Given the description of an element on the screen output the (x, y) to click on. 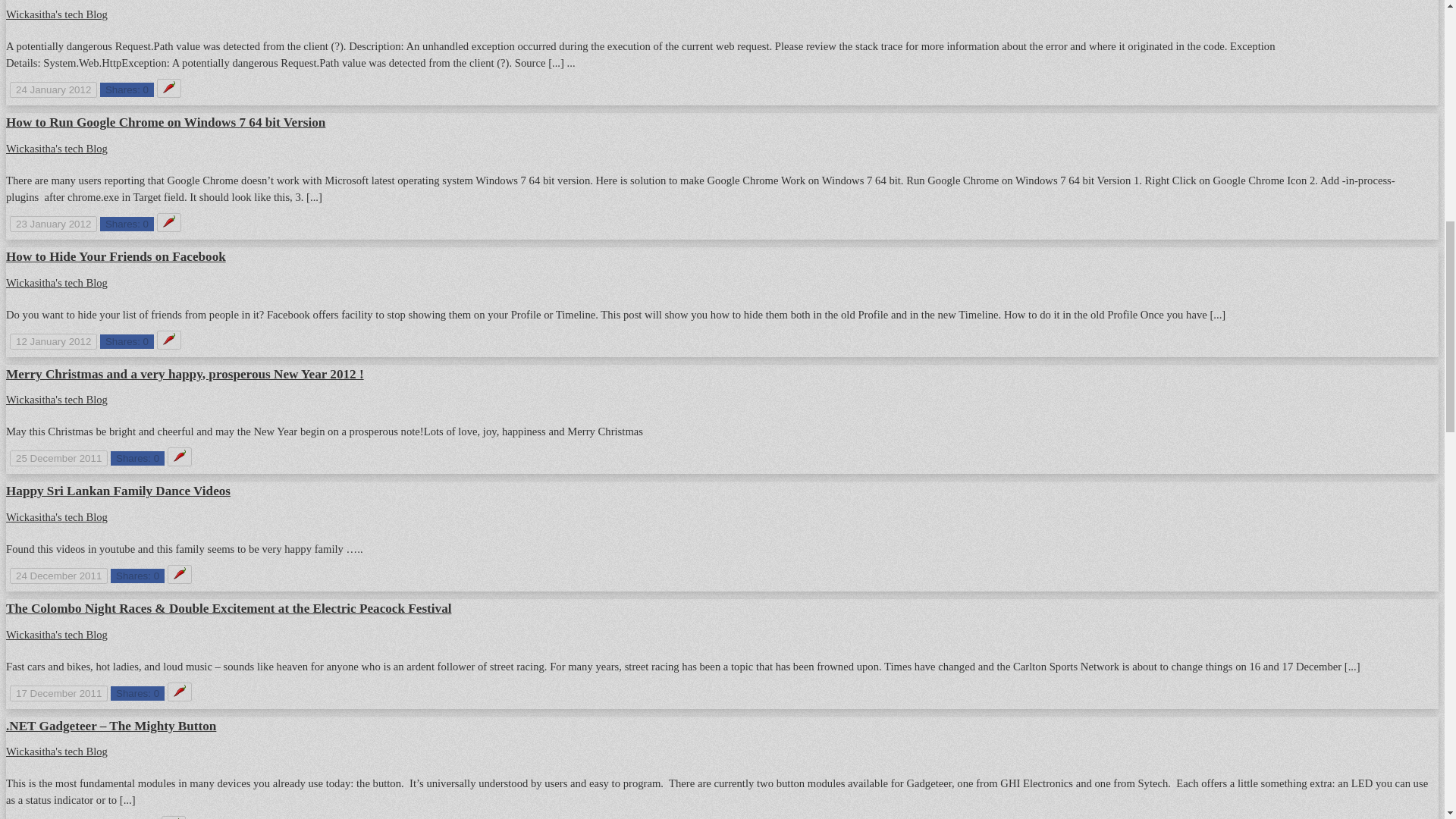
24 January 2012 (53, 89)
The post popularity is 1 chilies (168, 221)
How to Run Google Chrome on Windows 7 64 bit Version (164, 122)
Shares: 0 (127, 89)
The post popularity is 1 chilies (168, 87)
Wickasitha's tech Blog (56, 14)
